Given the description of an element on the screen output the (x, y) to click on. 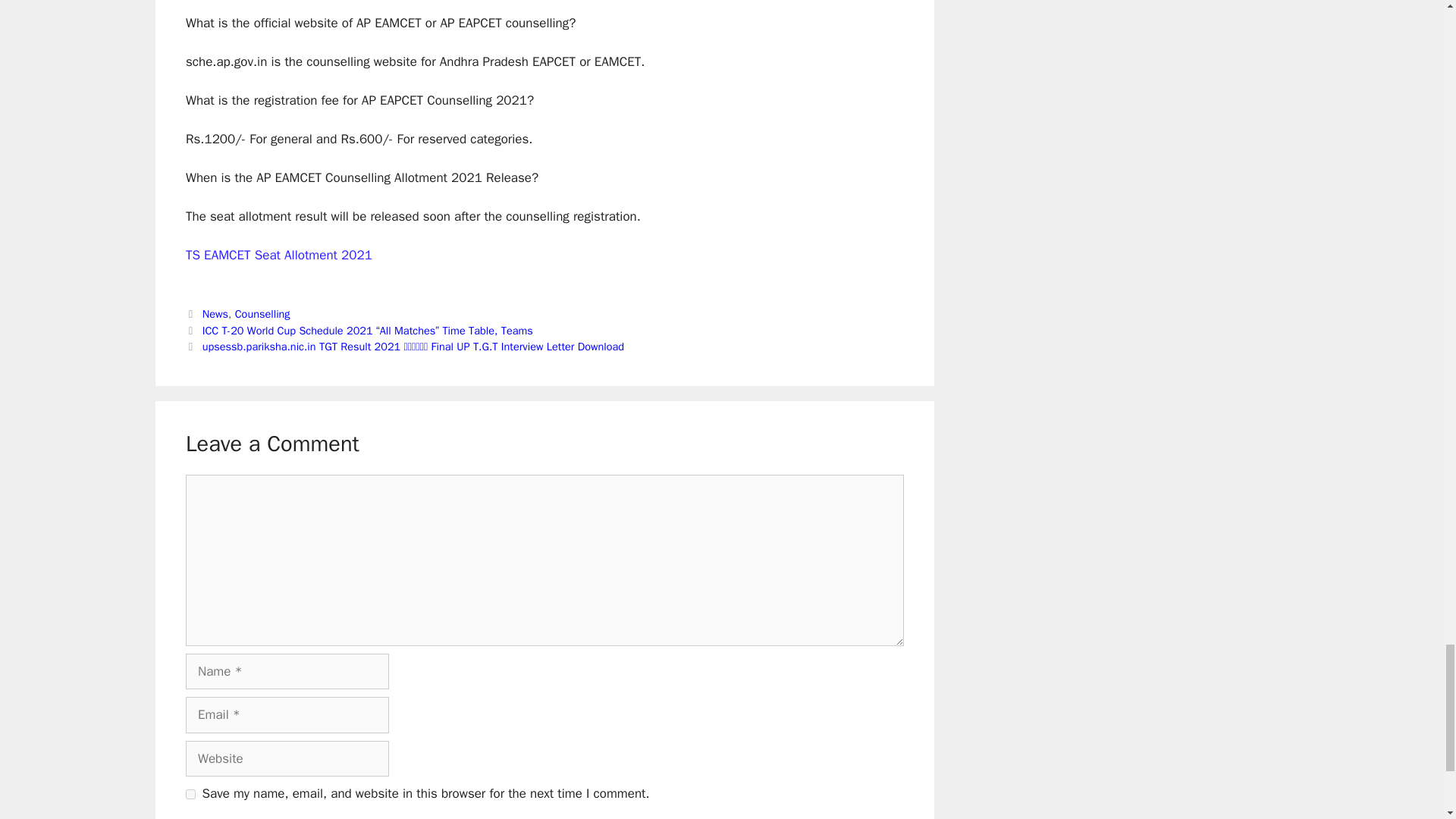
yes (190, 794)
News (215, 314)
TS EAMCET Seat Allotment 2021 (279, 254)
Counselling (261, 314)
